Given the description of an element on the screen output the (x, y) to click on. 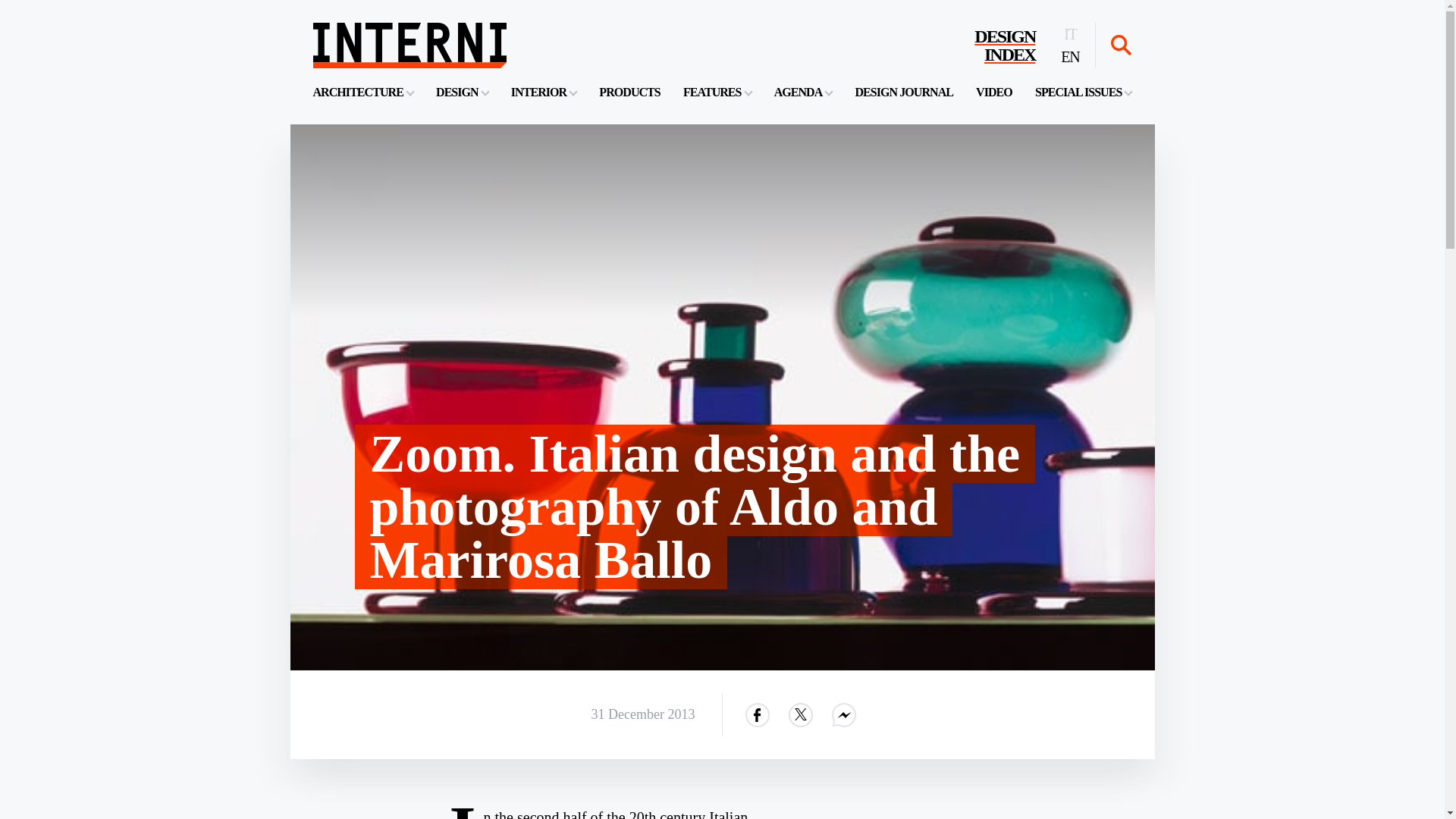
DESIGN (1004, 45)
interni magazine (461, 91)
DESIGN JOURNAL (409, 44)
PRODUCTS (903, 91)
SPECIAL ISSUES (629, 91)
ARCHITECTURE (1083, 91)
VIDEO (362, 91)
AGENDA (993, 91)
INTERIOR (803, 91)
interni magazine (543, 91)
FEATURES (409, 44)
